Given the description of an element on the screen output the (x, y) to click on. 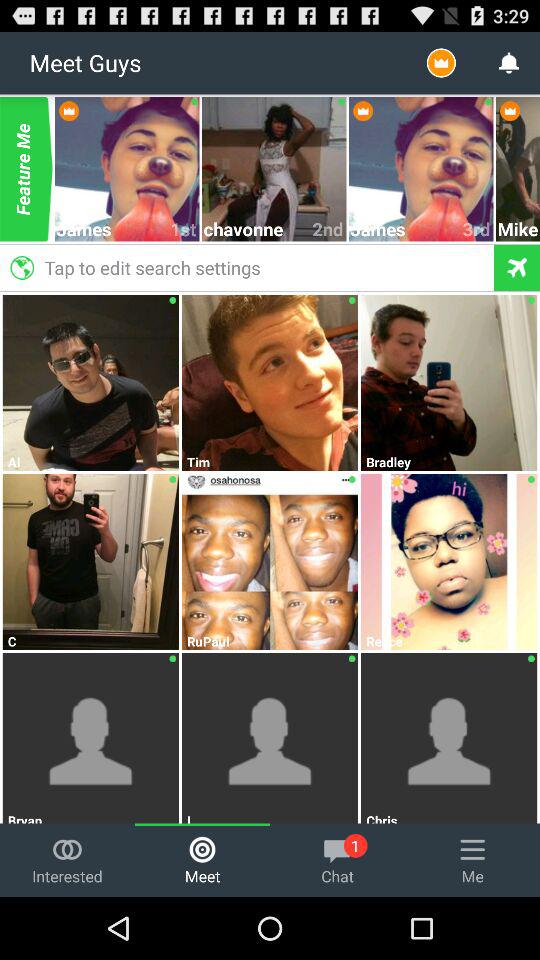
launch icon next to james item (477, 228)
